Given the description of an element on the screen output the (x, y) to click on. 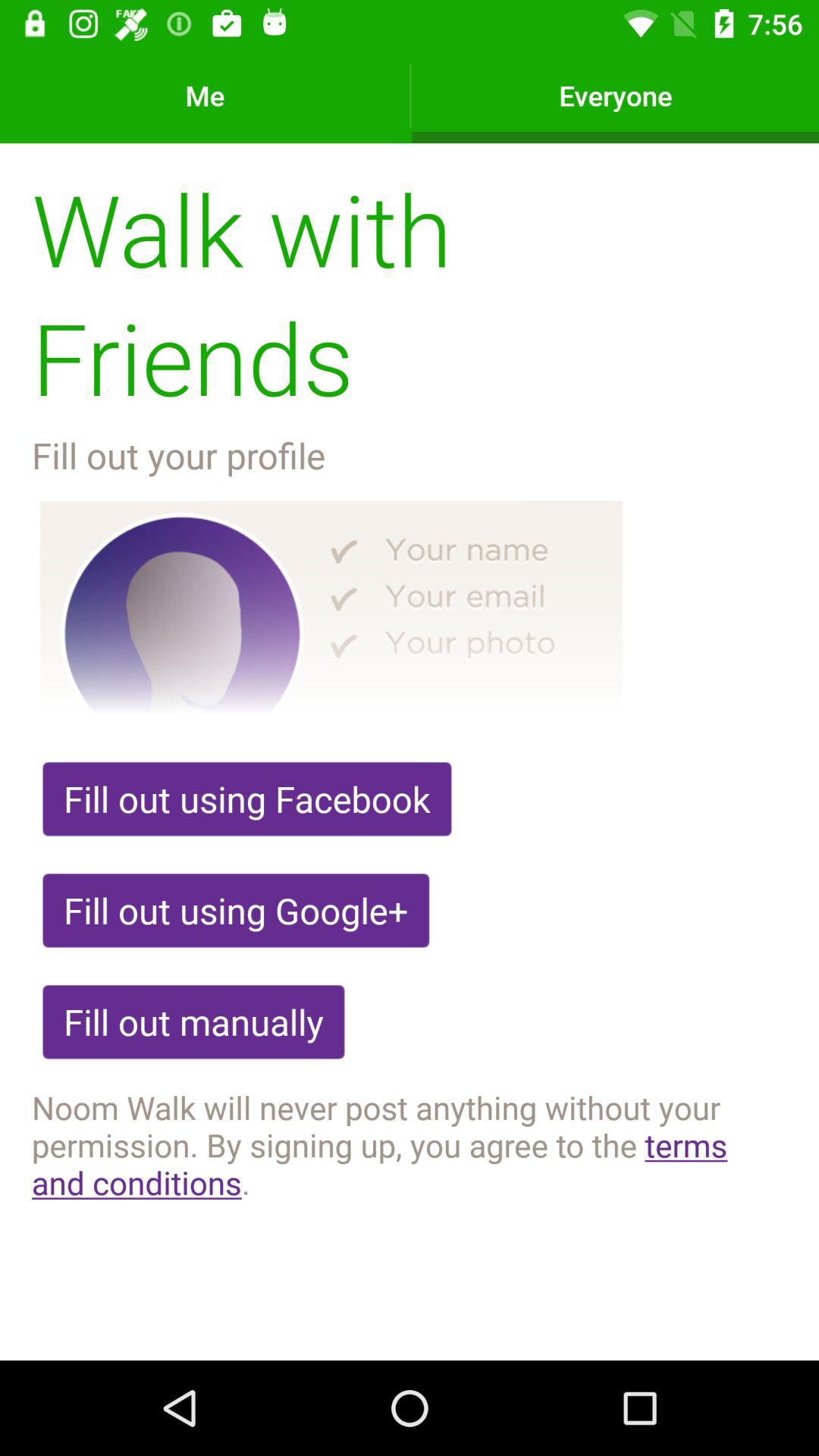
turn on noom walk will (409, 1144)
